Given the description of an element on the screen output the (x, y) to click on. 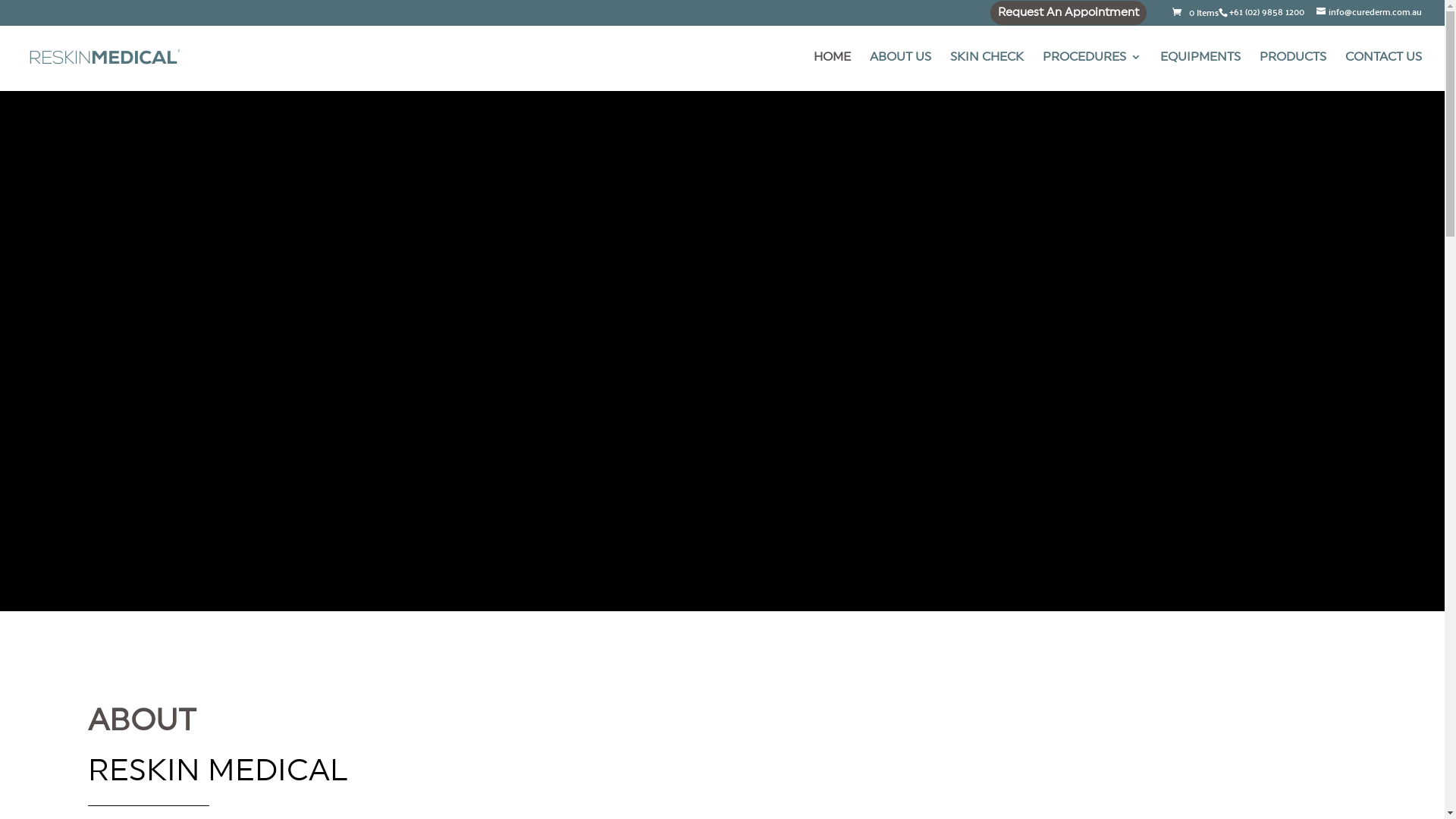
SKIN CHECK Element type: text (986, 71)
PRODUCTS Element type: text (1292, 71)
Request An Appointment Element type: text (1068, 12)
ABOUT US Element type: text (900, 71)
info@curederm.com.au Element type: text (1368, 11)
EQUIPMENTS Element type: text (1200, 71)
PROCEDURES Element type: text (1091, 71)
0 Items Element type: text (1194, 11)
HOME Element type: text (831, 71)
CONTACT US Element type: text (1383, 71)
